Given the description of an element on the screen output the (x, y) to click on. 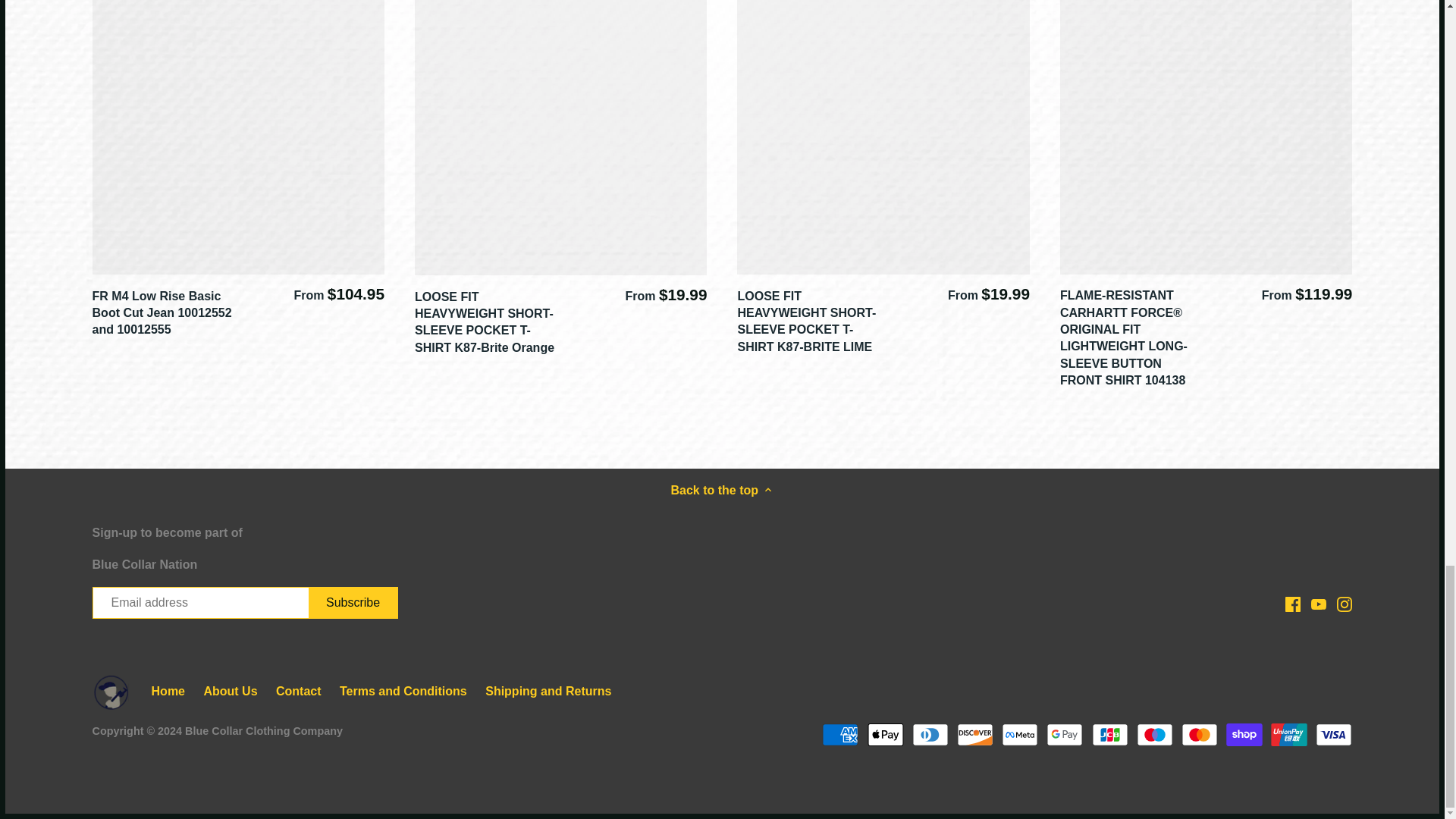
Subscribe (352, 603)
American Express (840, 734)
Instagram (1344, 603)
Facebook (1292, 603)
Youtube (1318, 604)
Instagram (1344, 604)
Facebook (1292, 604)
Youtube (1318, 603)
